Given the description of an element on the screen output the (x, y) to click on. 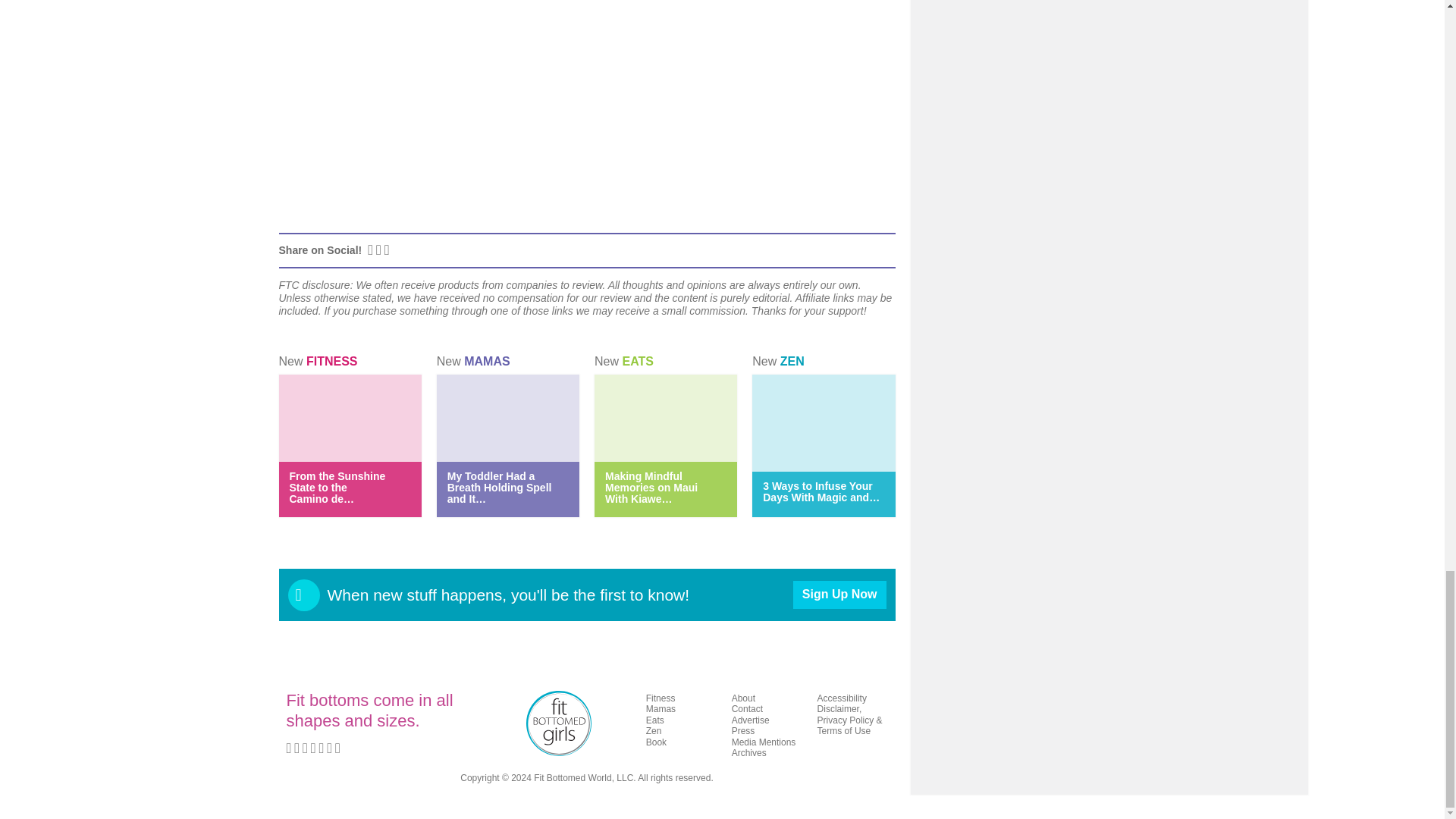
From the Sunshine State to the Camino de Santiago (337, 487)
My Toddler Had a Breath Holding Spell and It Was Scary AF (498, 487)
3 Ways to Infuse Your Days With Magic and Meaning (820, 491)
Making Mindful Memories on Maui With Kiawe Outdoor (651, 487)
